Given the description of an element on the screen output the (x, y) to click on. 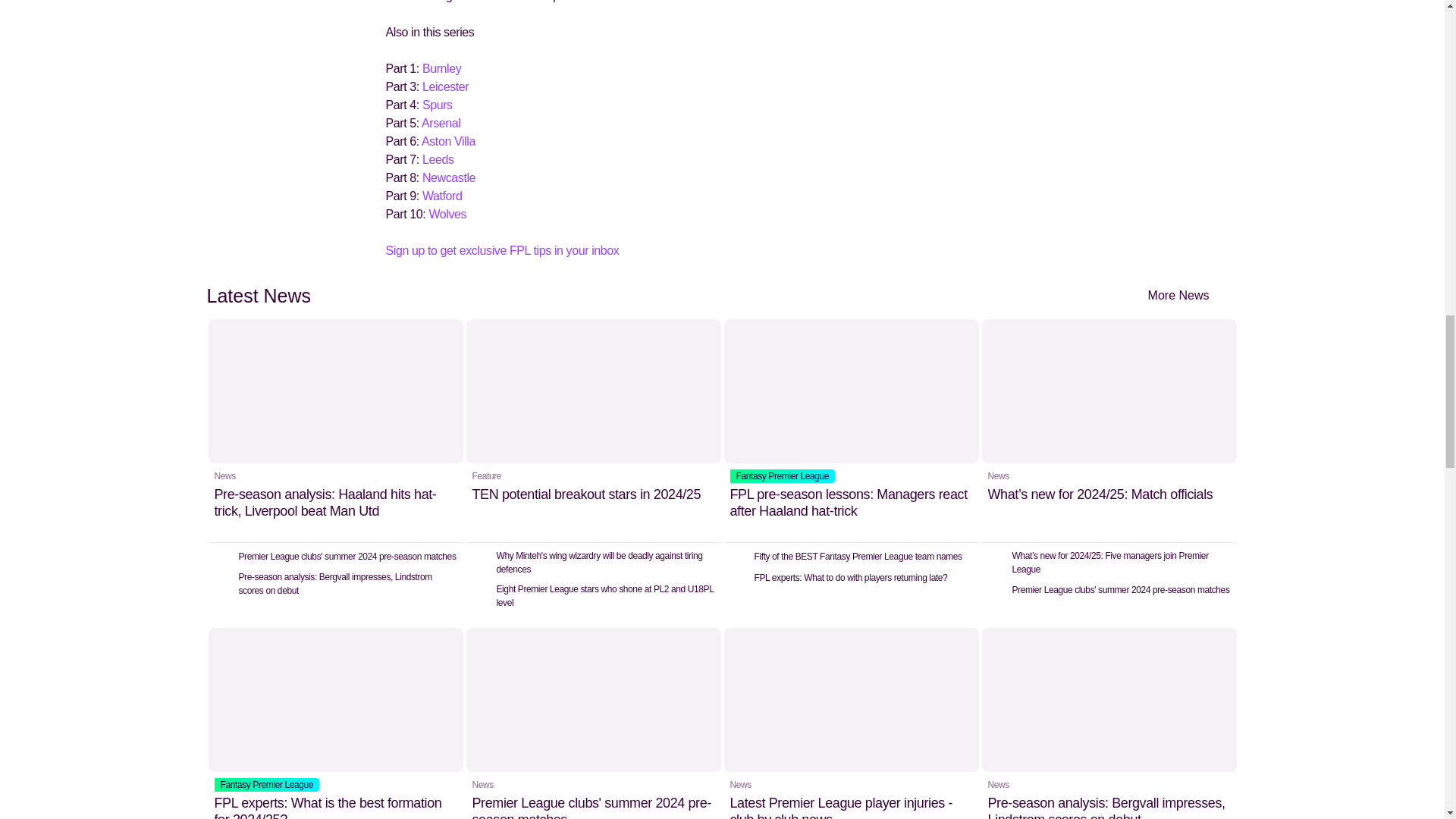
Premier League clubs' summer 2024 pre-season matches (592, 723)
Latest Premier League player injuries - club by club news (850, 723)
